Given the description of an element on the screen output the (x, y) to click on. 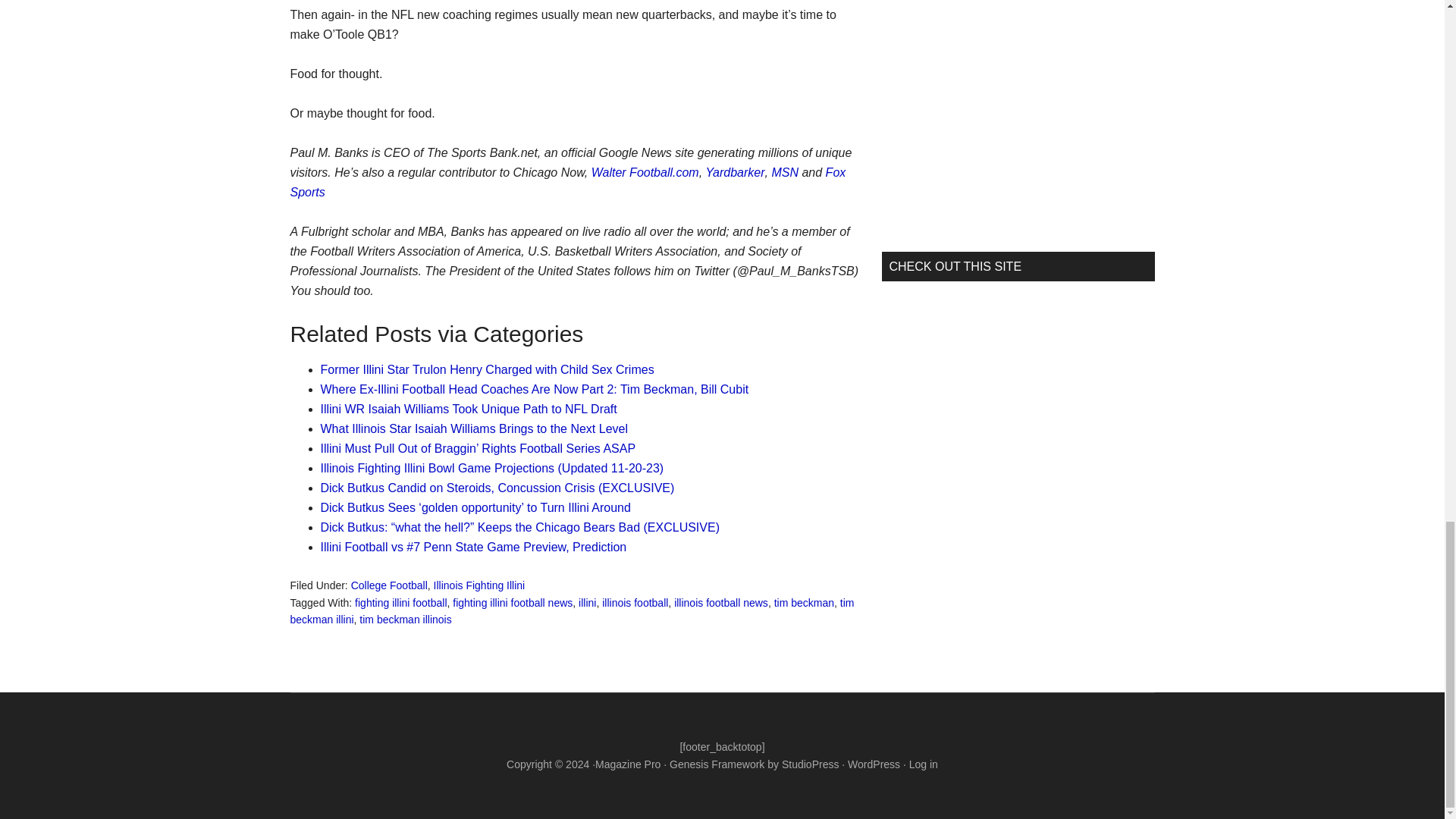
What Illinois Star Isaiah Williams Brings to the Next Level (473, 428)
What Illinois Star Isaiah Williams Brings to the Next Level (473, 428)
College Football (389, 585)
Illini WR Isaiah Williams Took Unique Path to NFL Draft (467, 408)
Fox Sports (567, 182)
Walter Football.com (644, 172)
